Given the description of an element on the screen output the (x, y) to click on. 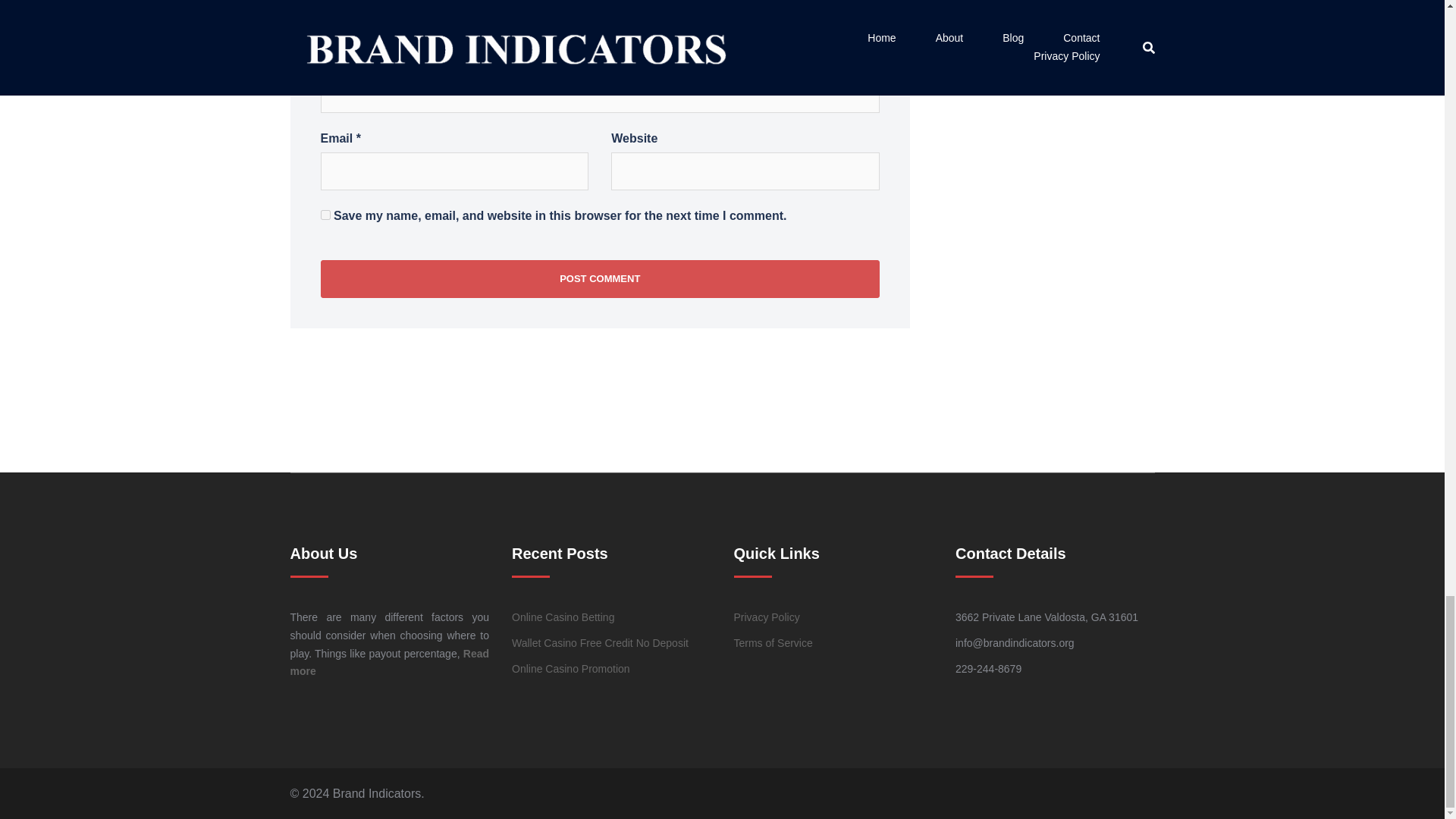
Privacy Policy (766, 616)
Post Comment (599, 279)
Online Casino Betting (563, 616)
Online Casino Promotion (571, 668)
Read more (389, 662)
Post Comment (599, 279)
Wallet Casino Free Credit No Deposit (600, 643)
yes (325, 214)
